Given the description of an element on the screen output the (x, y) to click on. 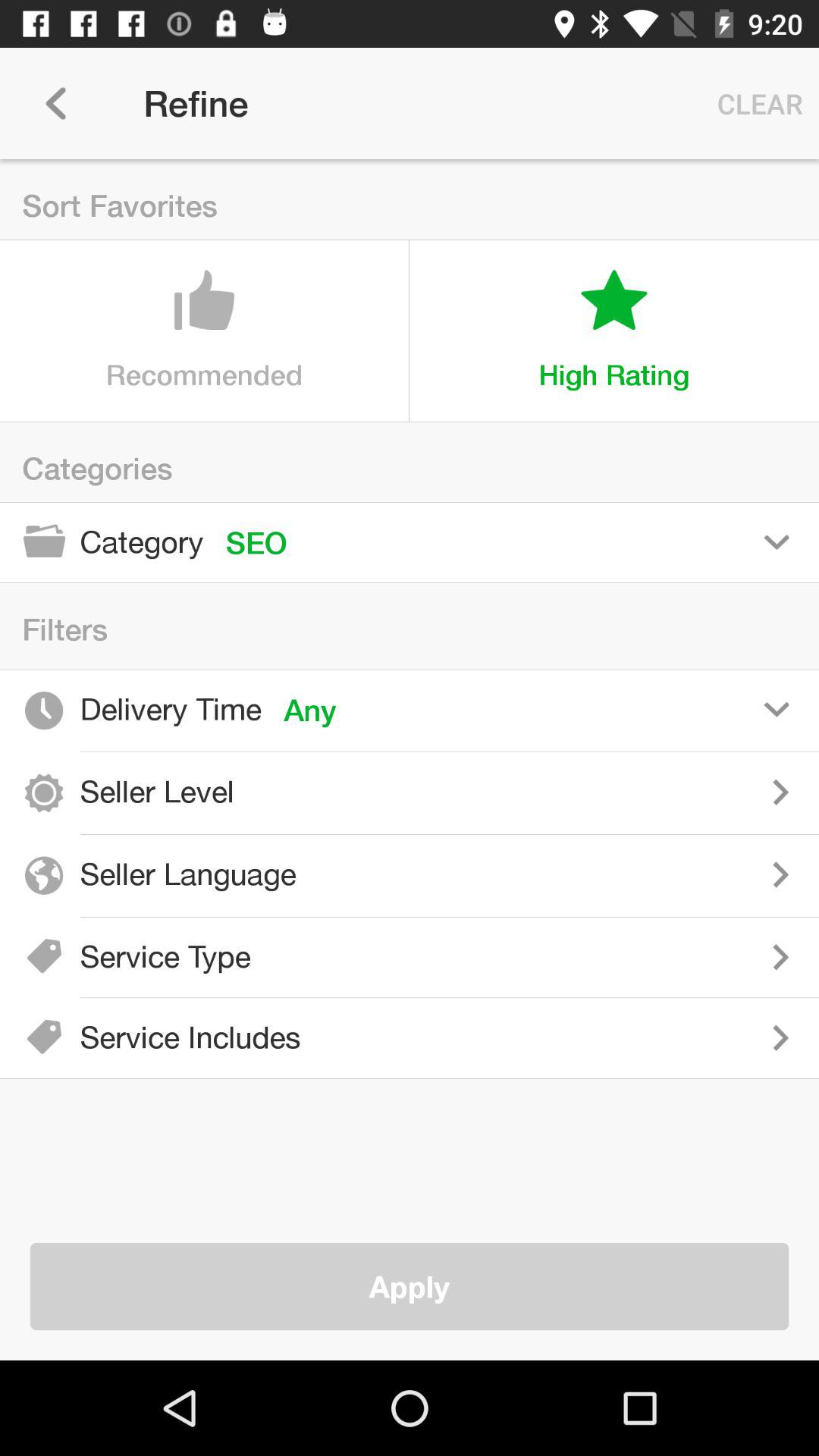
go to service includes filter (571, 1037)
